Given the description of an element on the screen output the (x, y) to click on. 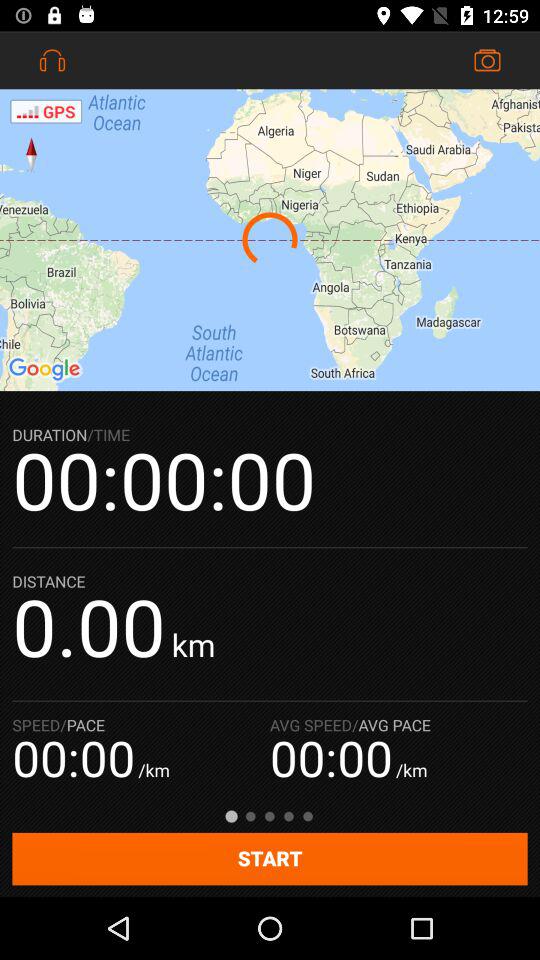
press the icon above duration/time (270, 240)
